Given the description of an element on the screen output the (x, y) to click on. 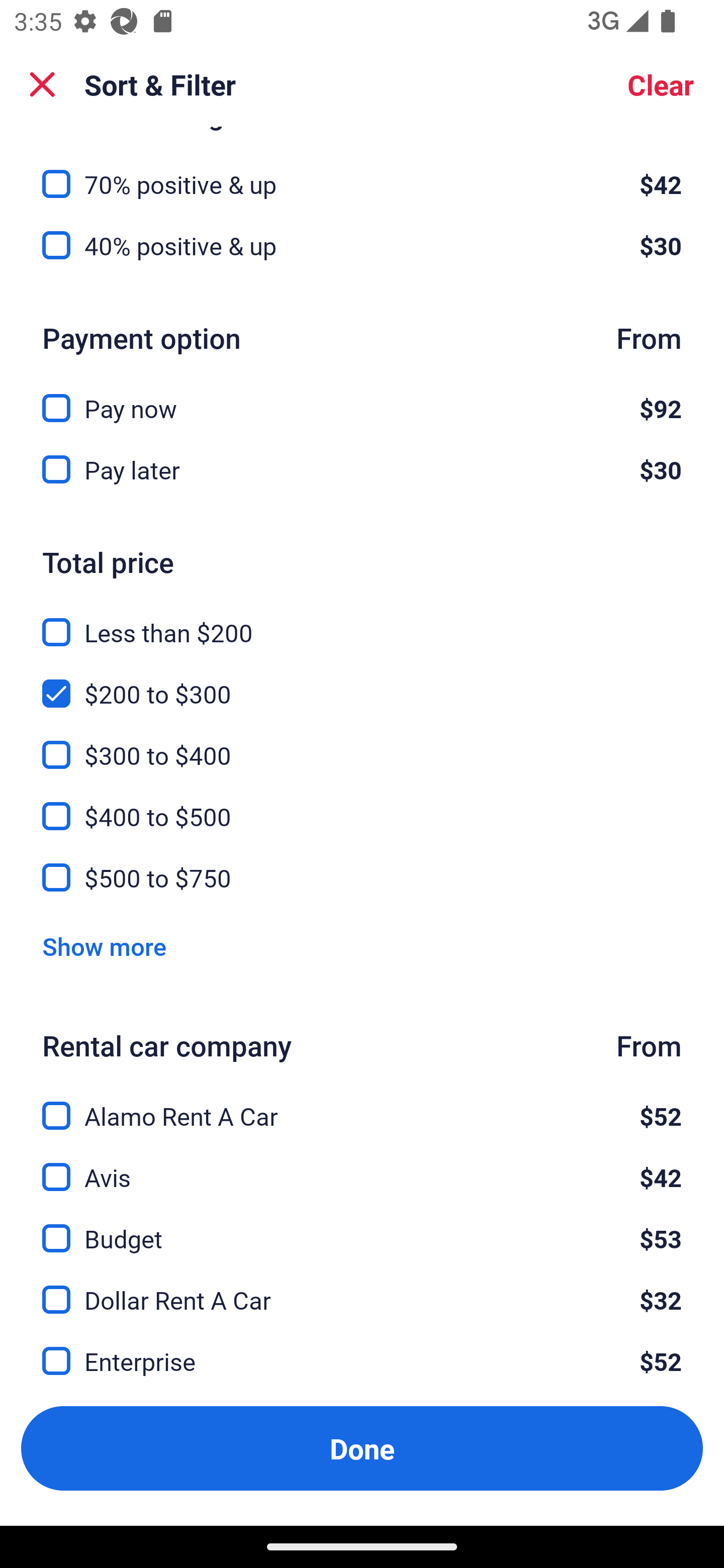
Close Sort and Filter (42, 84)
Clear (660, 84)
70% positive & up, $42 70% positive & up $42 (361, 172)
40% positive & up, $30 40% positive & up $30 (361, 245)
Pay now, $92 Pay now $92 (361, 397)
Pay later, $30 Pay later $30 (361, 470)
Less than $200, Less than $200 (361, 621)
$200 to $300, $200 to $300 (361, 682)
$300 to $400, $300 to $400 (361, 743)
$400 to $500, $400 to $500 (361, 804)
$500 to $750, $500 to $750 (361, 877)
Show more Show more Link (103, 945)
Alamo Rent A Car, $52 Alamo Rent A Car $52 (361, 1104)
Avis, $42 Avis $42 (361, 1165)
Budget, $53 Budget $53 (361, 1226)
Dollar Rent A Car, $32 Dollar Rent A Car $32 (361, 1287)
Enterprise, $52 Enterprise $52 (361, 1360)
Apply and close Sort and Filter Done (361, 1448)
